Given the description of an element on the screen output the (x, y) to click on. 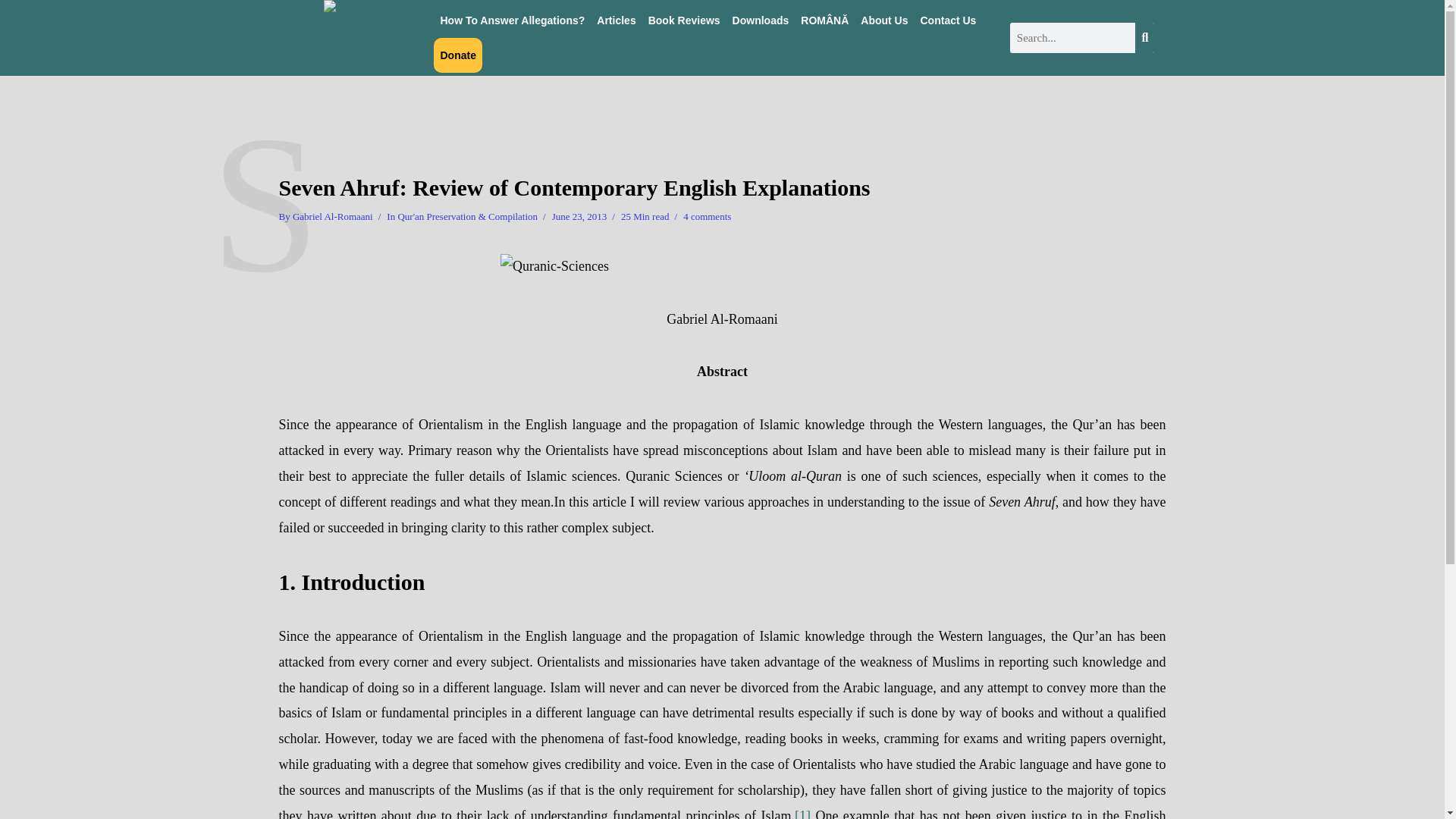
Donate (457, 54)
4 comments (706, 217)
Contact Us (948, 20)
About Us (884, 20)
Book Reviews (684, 20)
Articles (616, 20)
Downloads (760, 20)
Gabriel Al-Romaani (332, 217)
How To Answer Allegations? (512, 20)
